Given the description of an element on the screen output the (x, y) to click on. 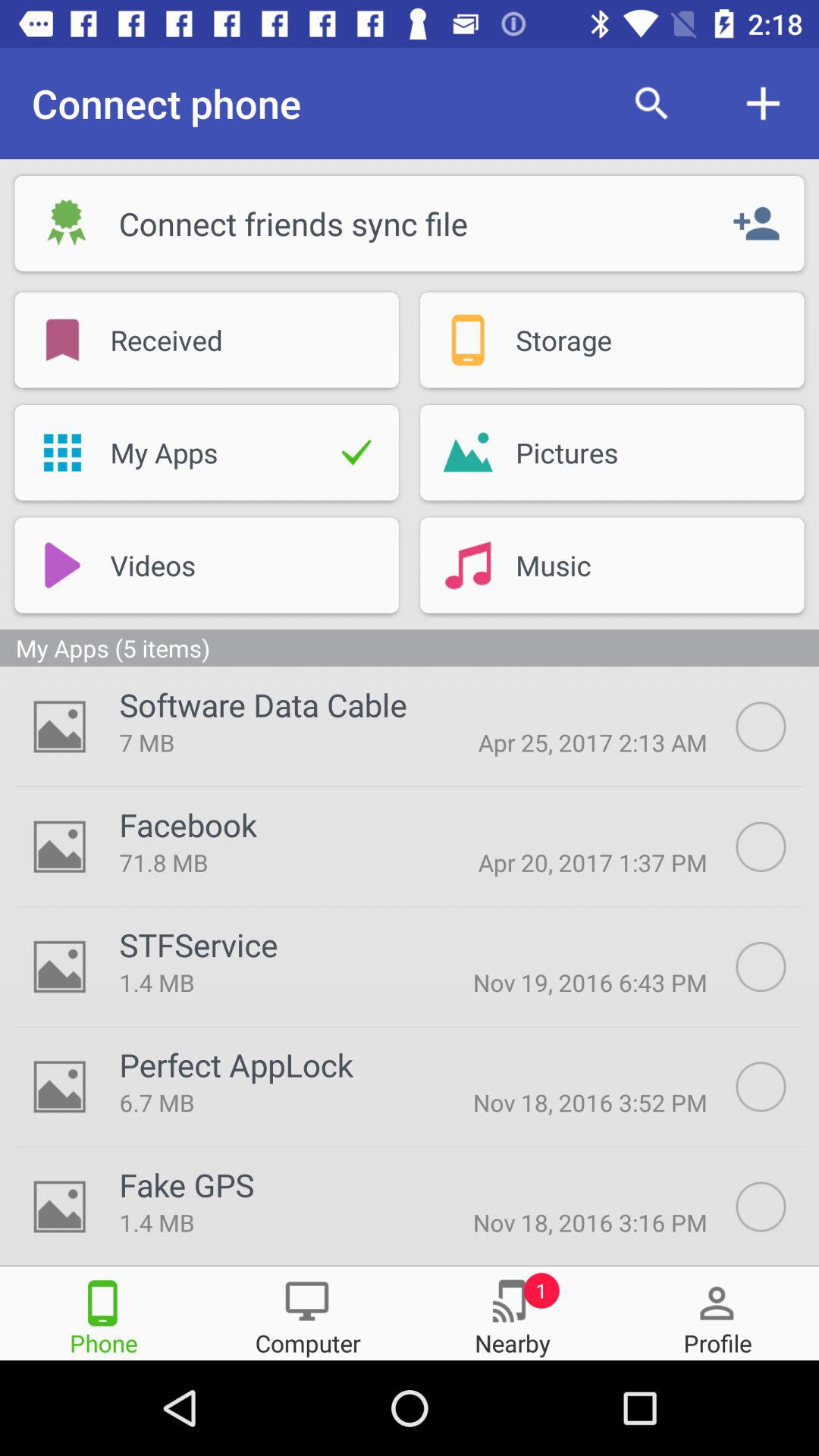
scroll to stfservice item (198, 944)
